Given the description of an element on the screen output the (x, y) to click on. 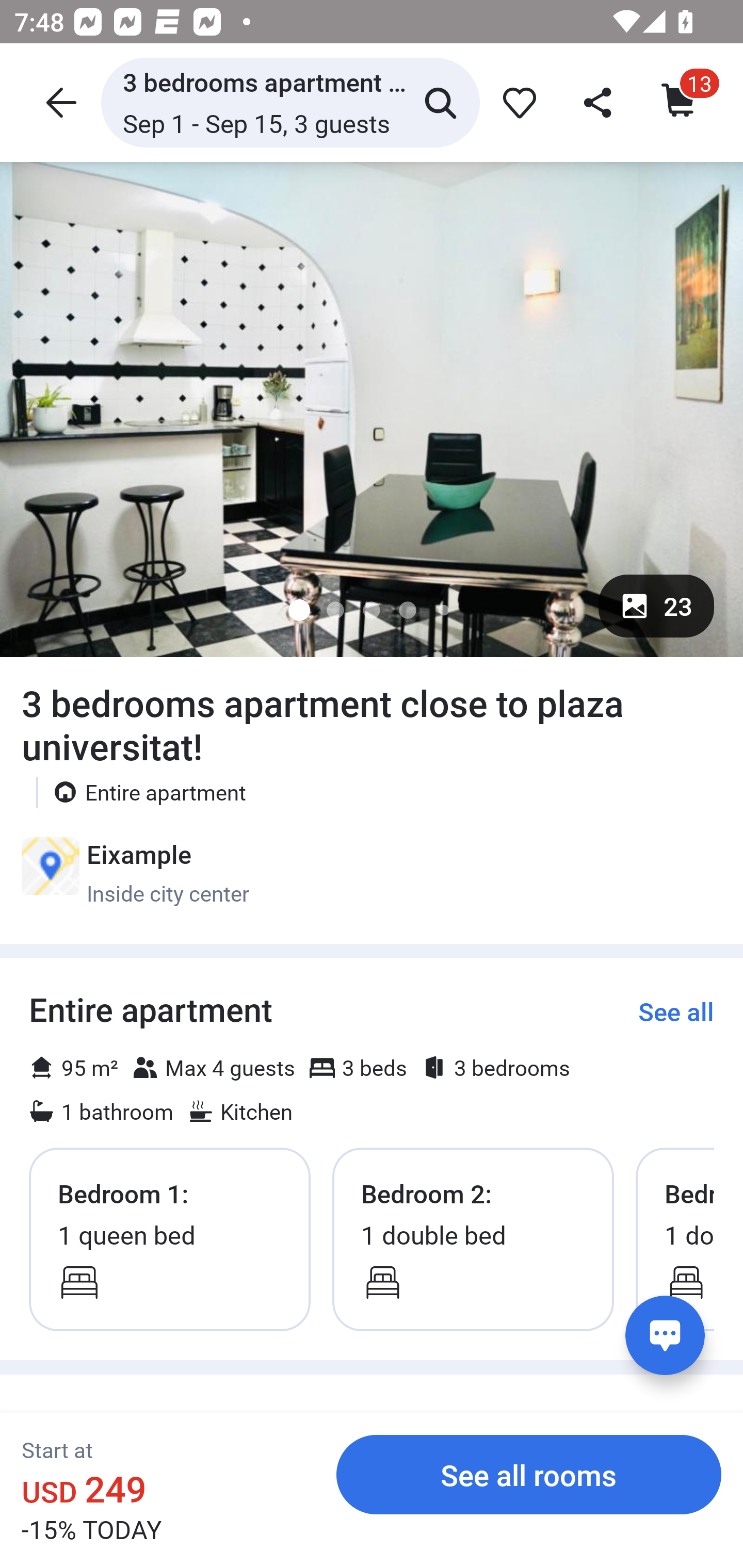
header icon (59, 102)
favorite_icon 0dbe6efb (515, 102)
share_header_icon (598, 102)
Cart icon cart_item_count 13 (679, 102)
image (371, 408)
23 (656, 605)
Eixample Inside city center (134, 872)
See all (676, 1011)
See all rooms (528, 1474)
